Given the description of an element on the screen output the (x, y) to click on. 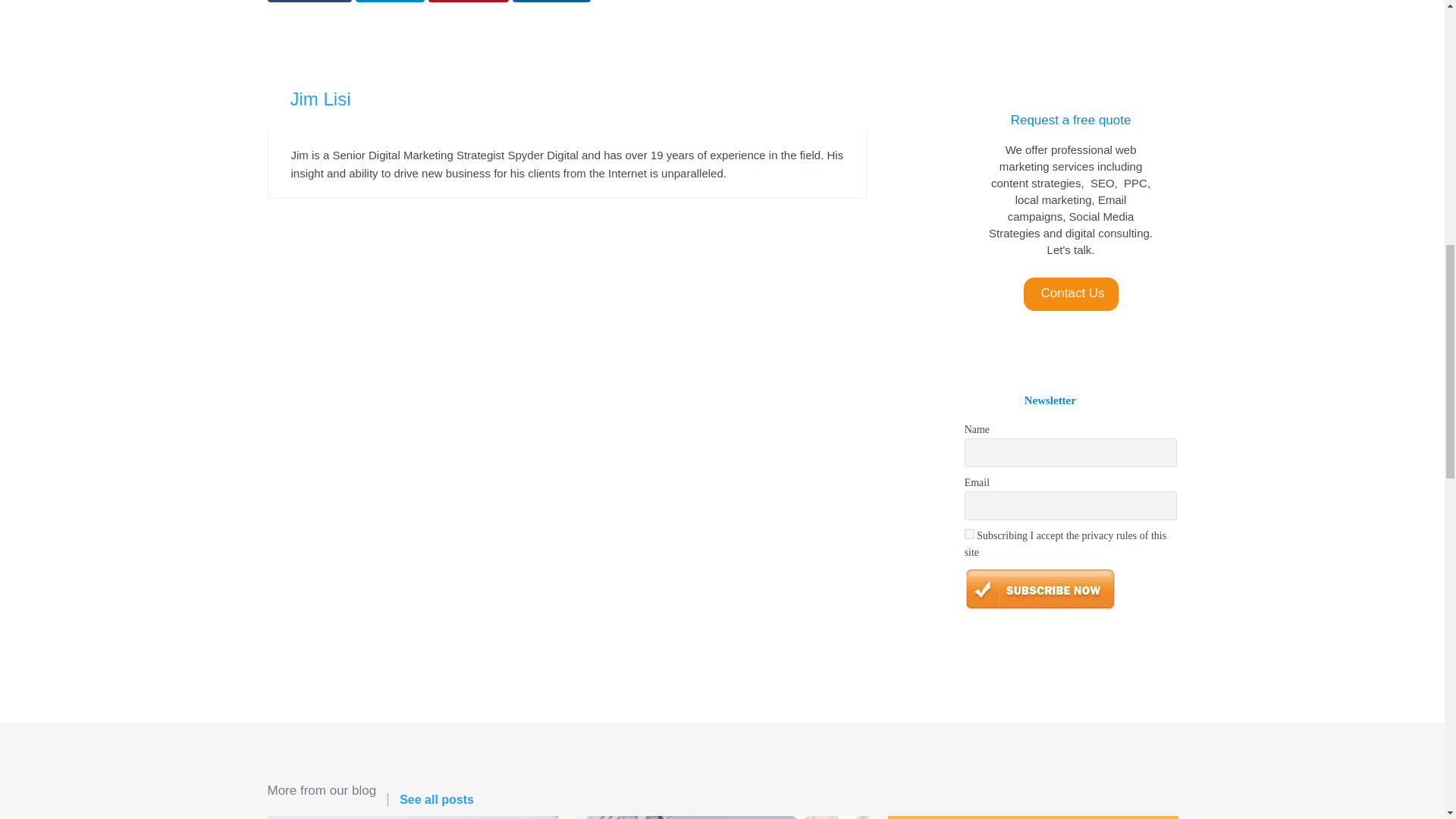
Screenshot 2024-07-25 083923 (411, 817)
Screenshot 2024-07-09 092355 (1031, 817)
Screenshot 2024-07-17 092007 (722, 817)
on (968, 533)
